Given the description of an element on the screen output the (x, y) to click on. 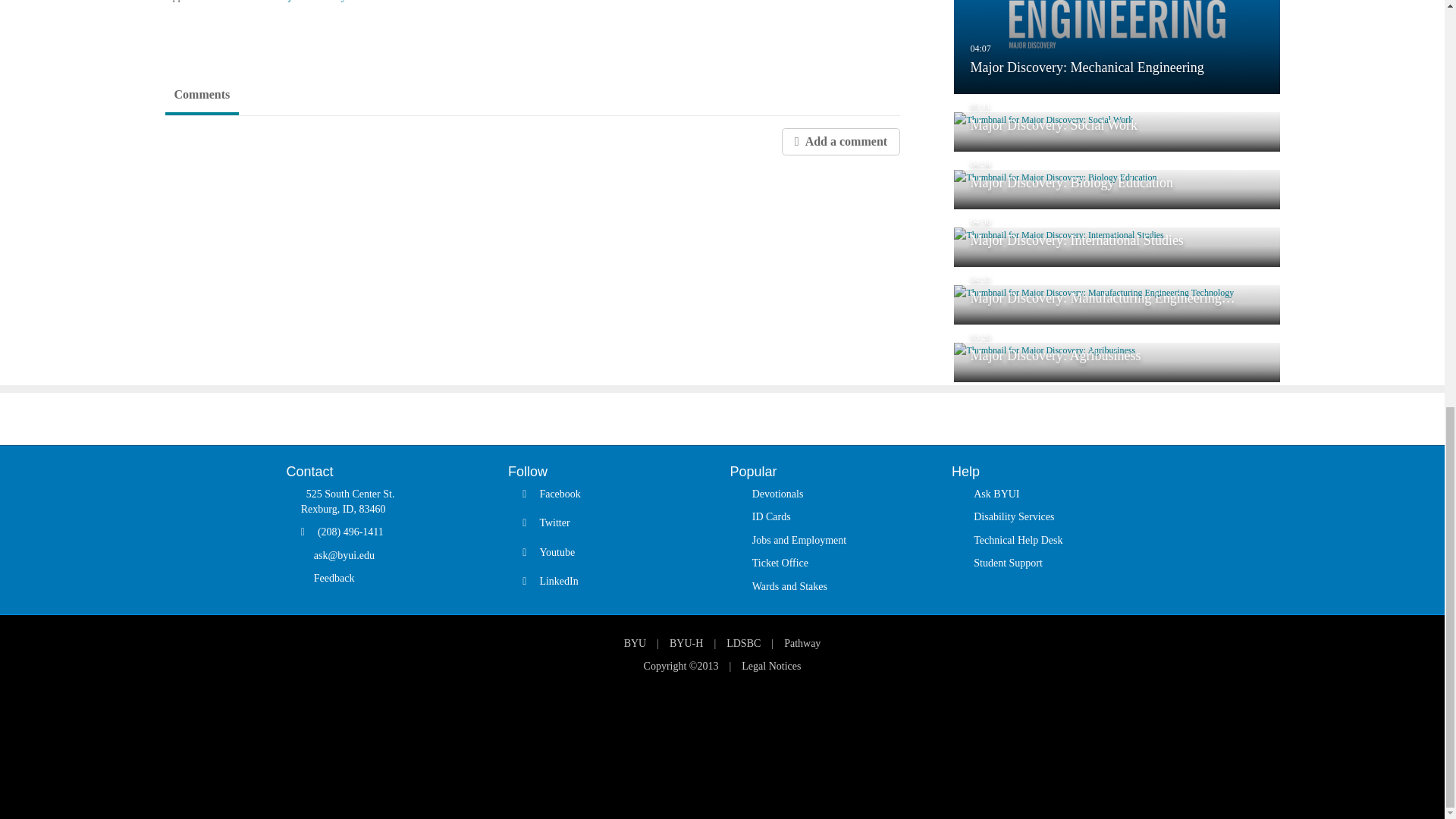
Major Discovery: Social Work (1116, 131)
Major Discovery: Biology Education (1116, 189)
Major Discovery: International Studies (1116, 246)
Appears In (210, 2)
Major Discovery: Mechanical Engineering (1116, 47)
Major Discovery: Agribusiness (1116, 362)
Major Discovery: Manufacturing Engineering Technology (1116, 304)
